Given the description of an element on the screen output the (x, y) to click on. 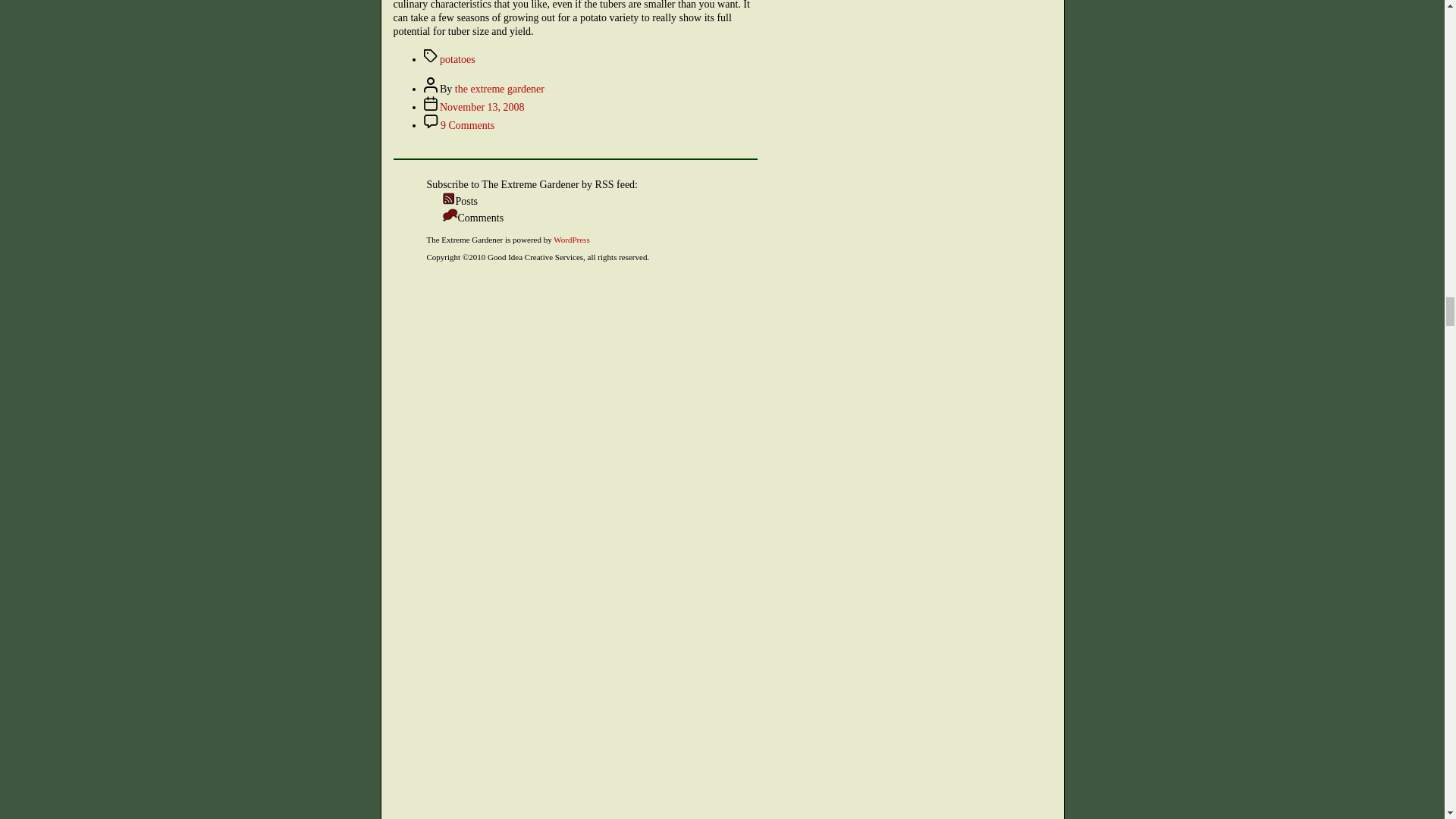
November 13, 2008 (481, 107)
the extreme gardener (468, 125)
potatoes (499, 89)
